Given the description of an element on the screen output the (x, y) to click on. 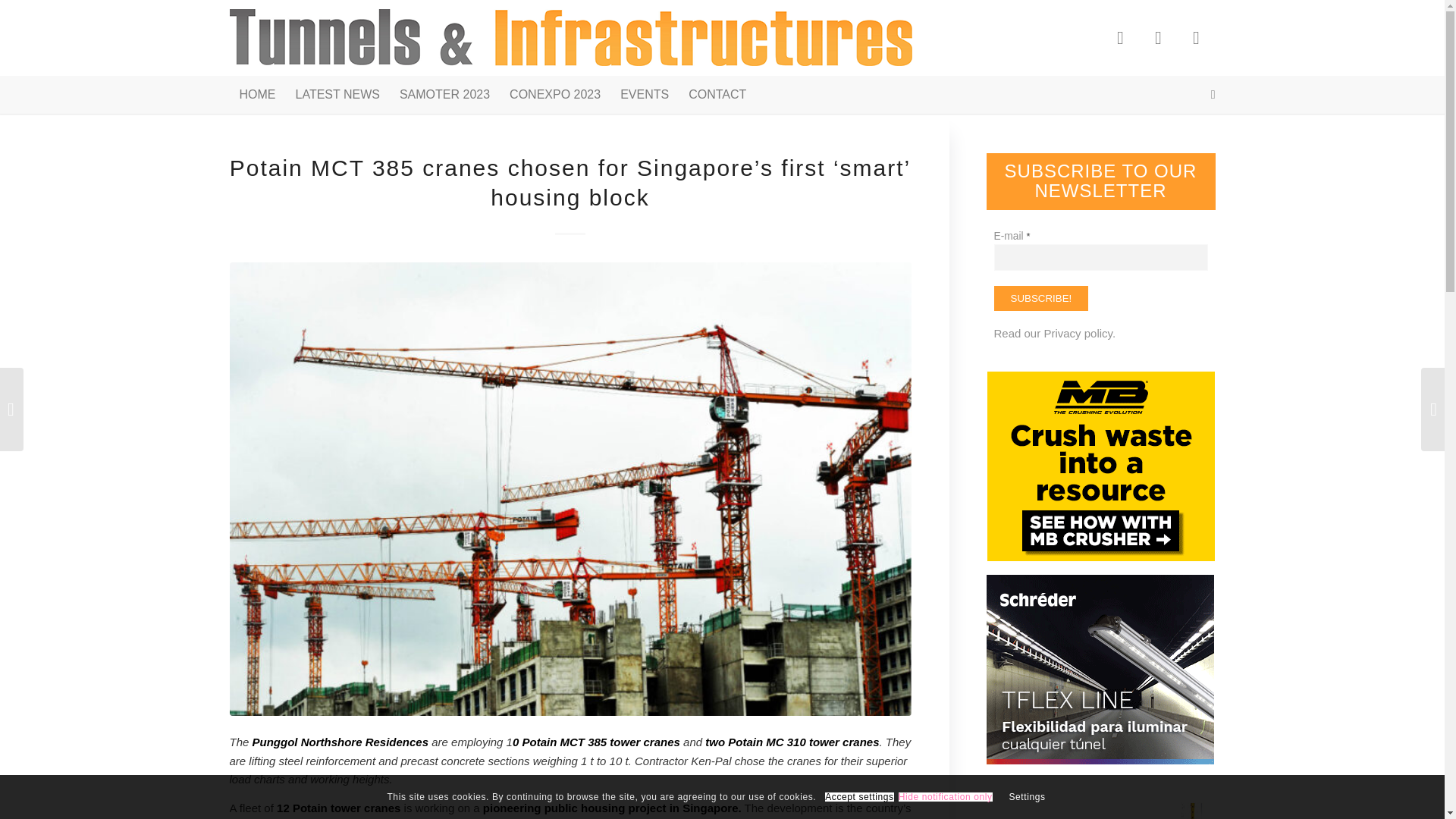
SAMOTER 2023 (444, 94)
SUBSCRIBE! (1039, 298)
LinkedIn (1196, 37)
Facebook (1119, 37)
CONTACT (716, 94)
CONEXPO 2023 (554, 94)
LATEST NEWS (336, 94)
Tunnels-logo-2020-2 (569, 38)
HOME (256, 94)
Twitter (1158, 37)
EVENTS (644, 94)
